Given the description of an element on the screen output the (x, y) to click on. 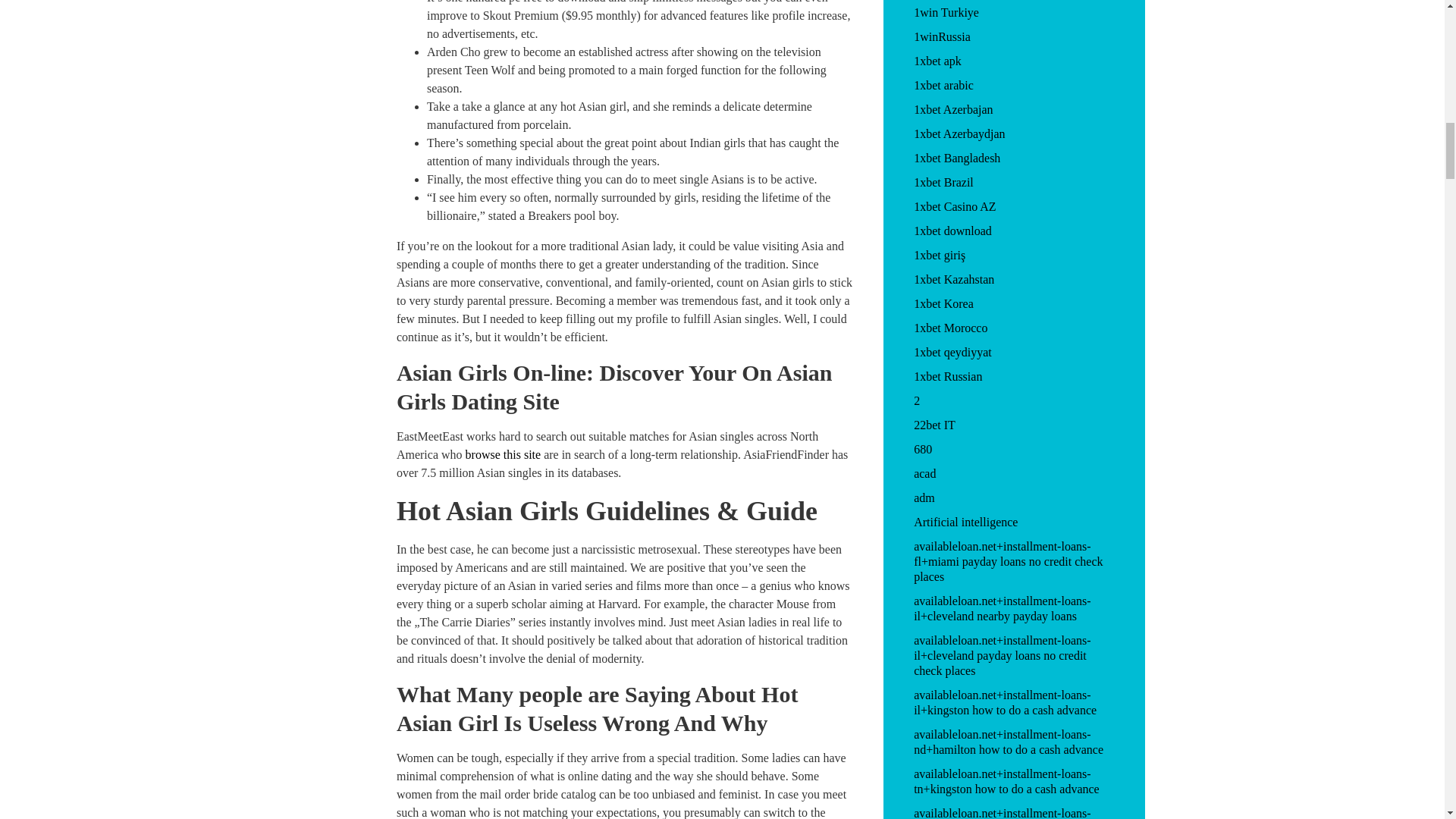
browse this site (503, 454)
